Given the description of an element on the screen output the (x, y) to click on. 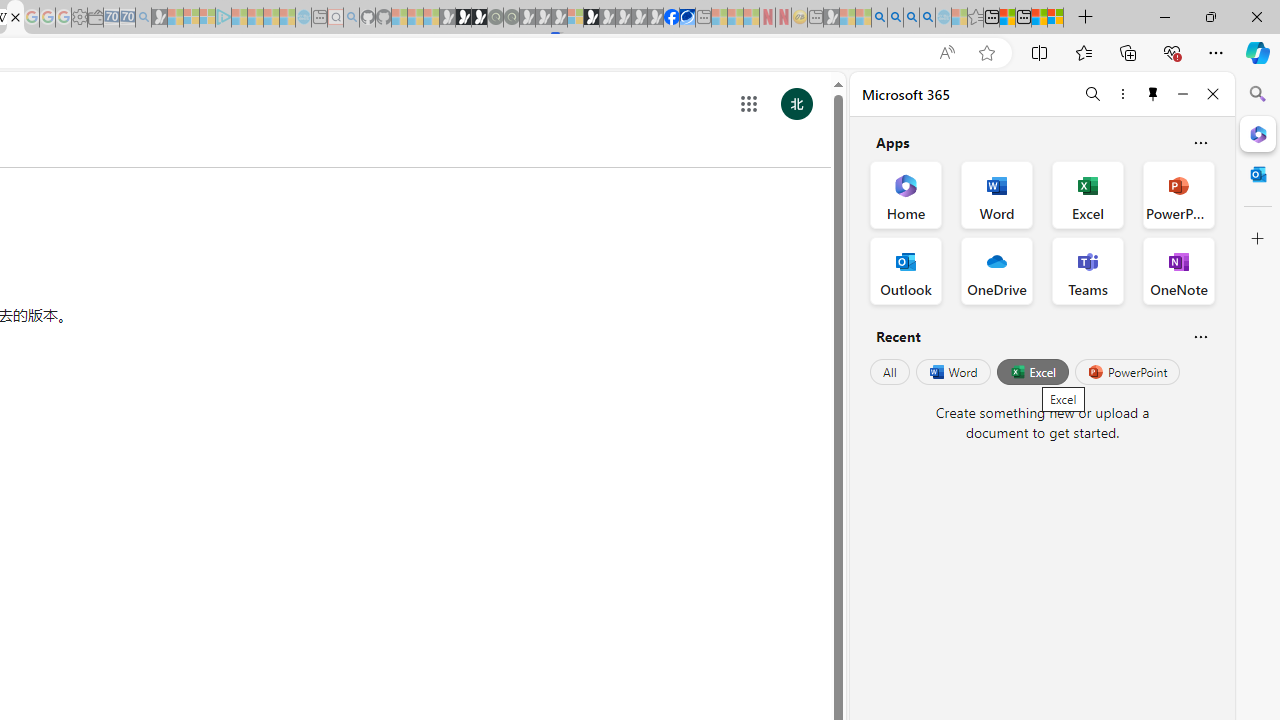
Close Outlook pane (1258, 174)
OneNote Office App (1178, 270)
MSN - Sleeping (831, 17)
